Given the description of an element on the screen output the (x, y) to click on. 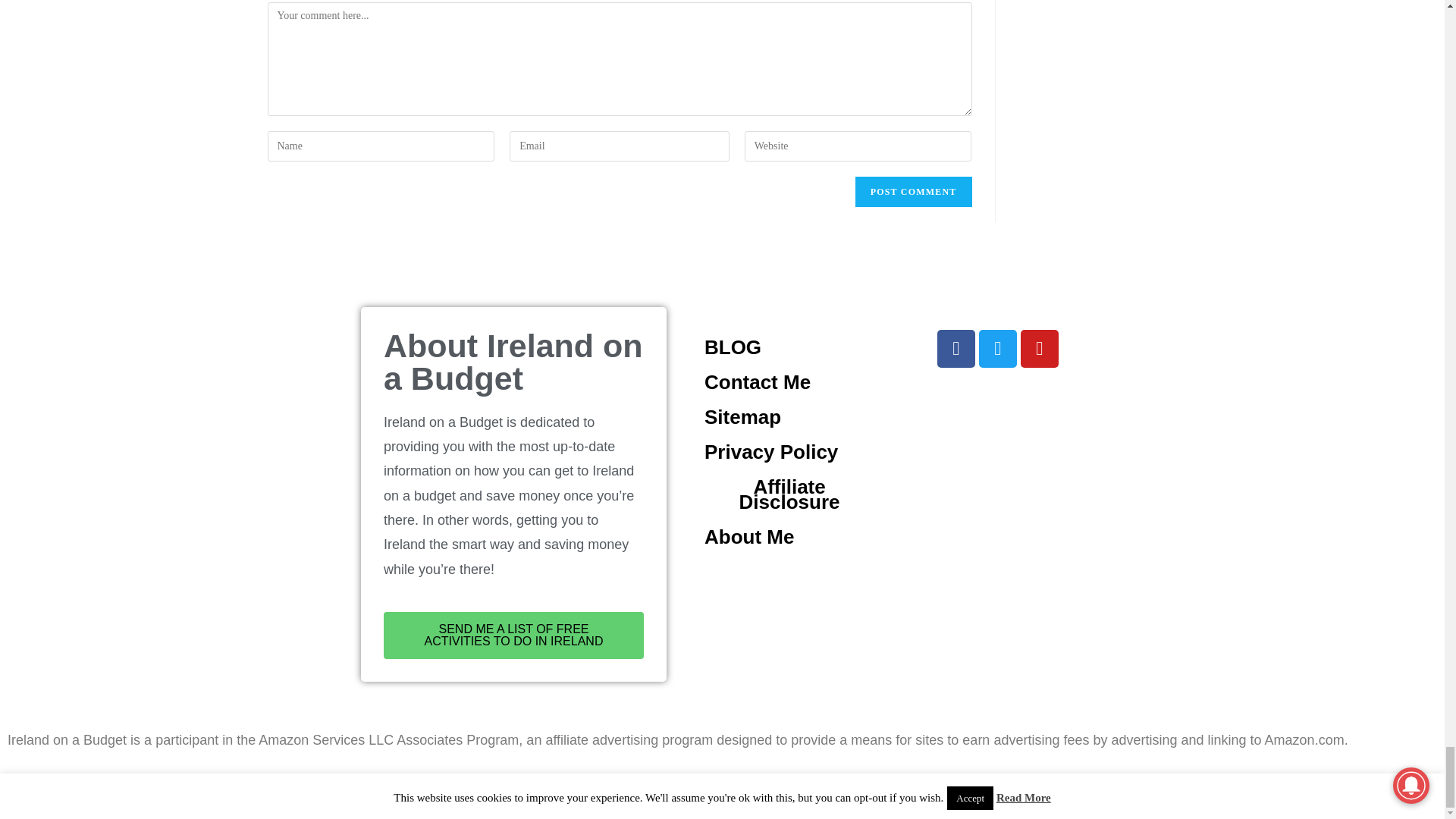
Post Comment (914, 191)
